Given the description of an element on the screen output the (x, y) to click on. 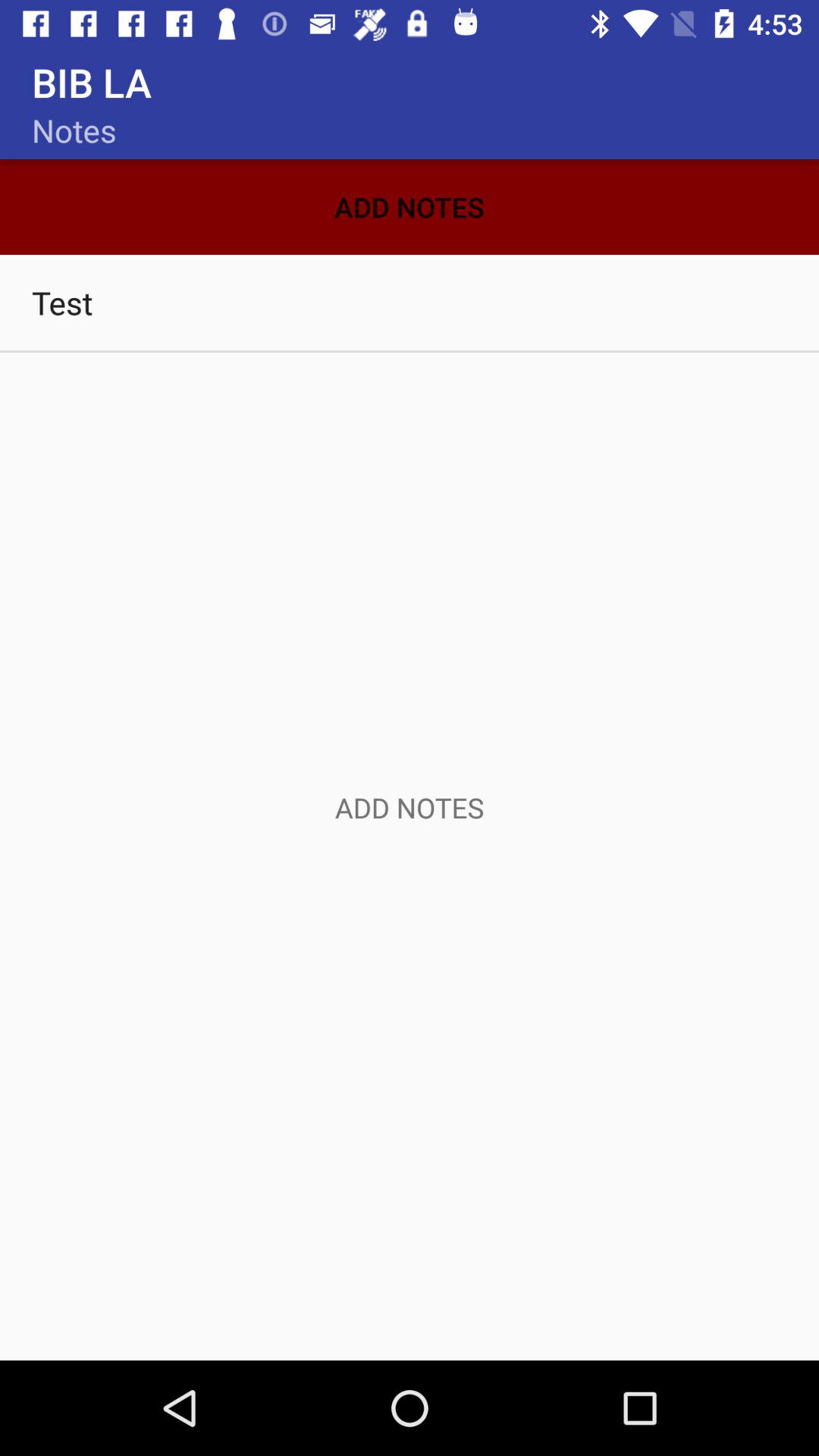
tap test (409, 302)
